Given the description of an element on the screen output the (x, y) to click on. 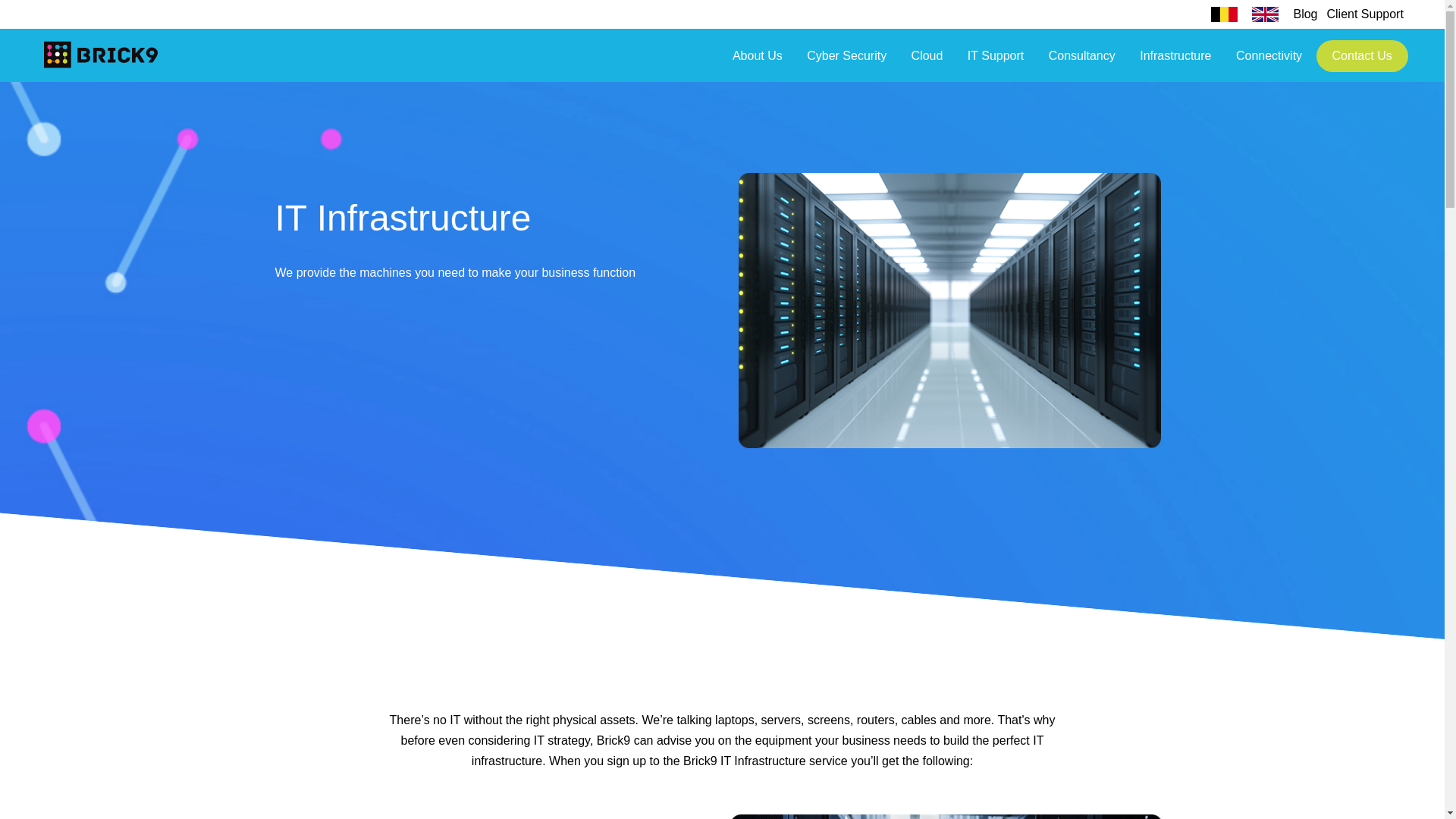
Infrastructure (1175, 61)
About Us (757, 61)
Consultancy (1081, 61)
Connectivity (1268, 61)
Cloud (927, 61)
IT Support (994, 61)
Blog (1304, 14)
Contact Us (1362, 55)
Client Support (1364, 14)
Cyber Security (846, 61)
